Given the description of an element on the screen output the (x, y) to click on. 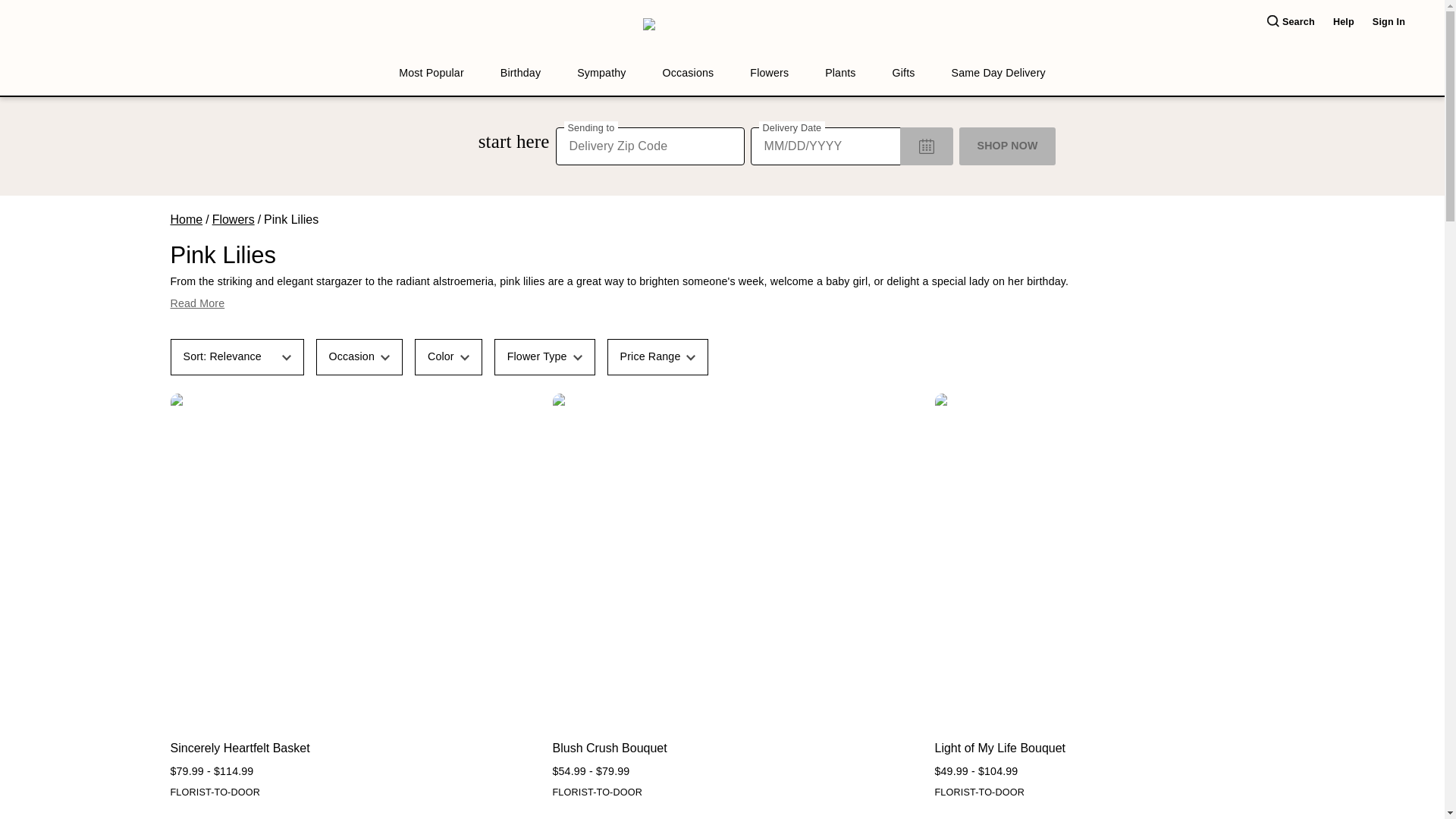
Birthday (520, 72)
Most Popular (430, 72)
Sign In (1389, 22)
Help (1343, 22)
Search (1290, 22)
